Given the description of an element on the screen output the (x, y) to click on. 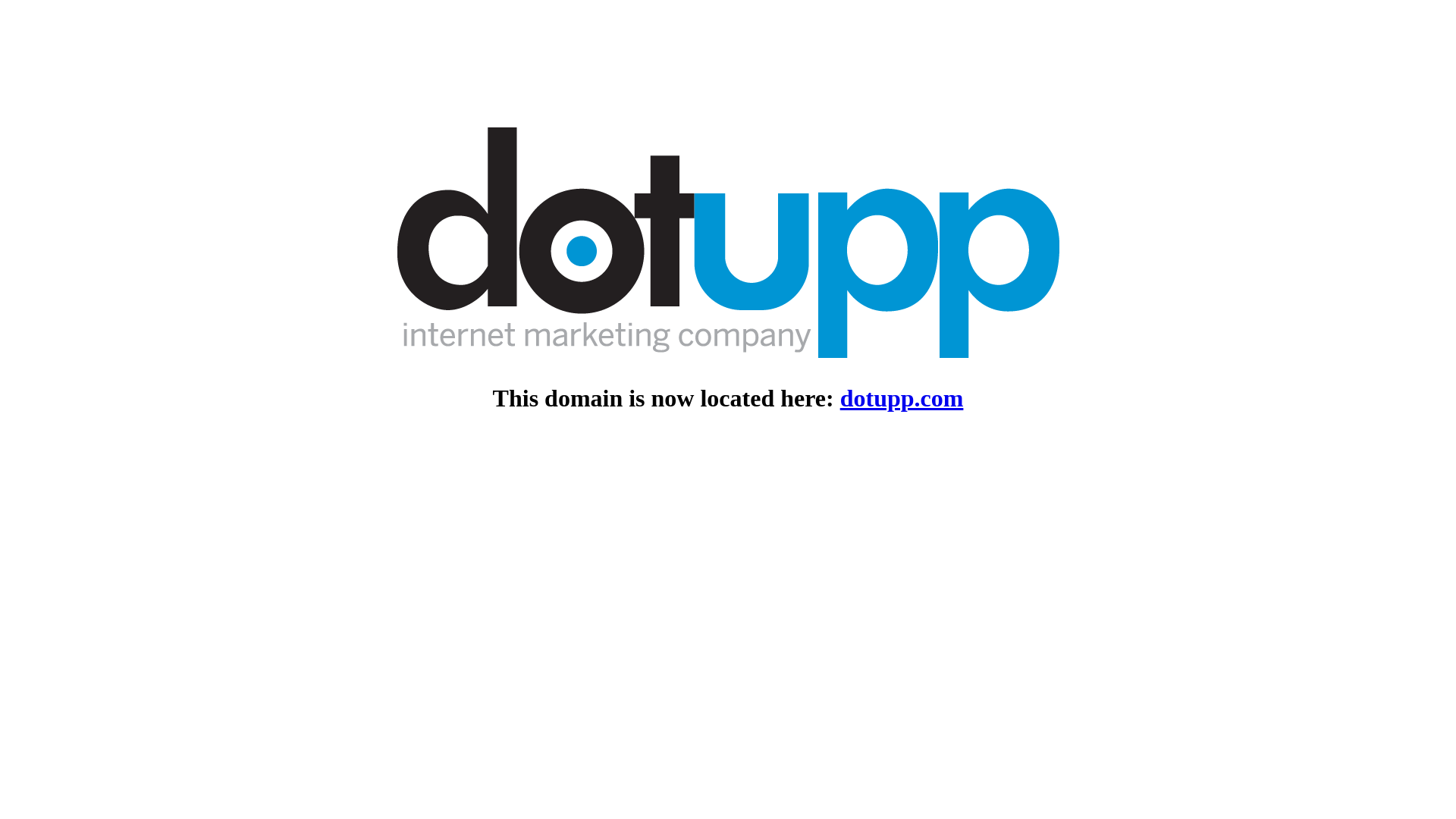
dotupp.com Element type: text (901, 397)
